Given the description of an element on the screen output the (x, y) to click on. 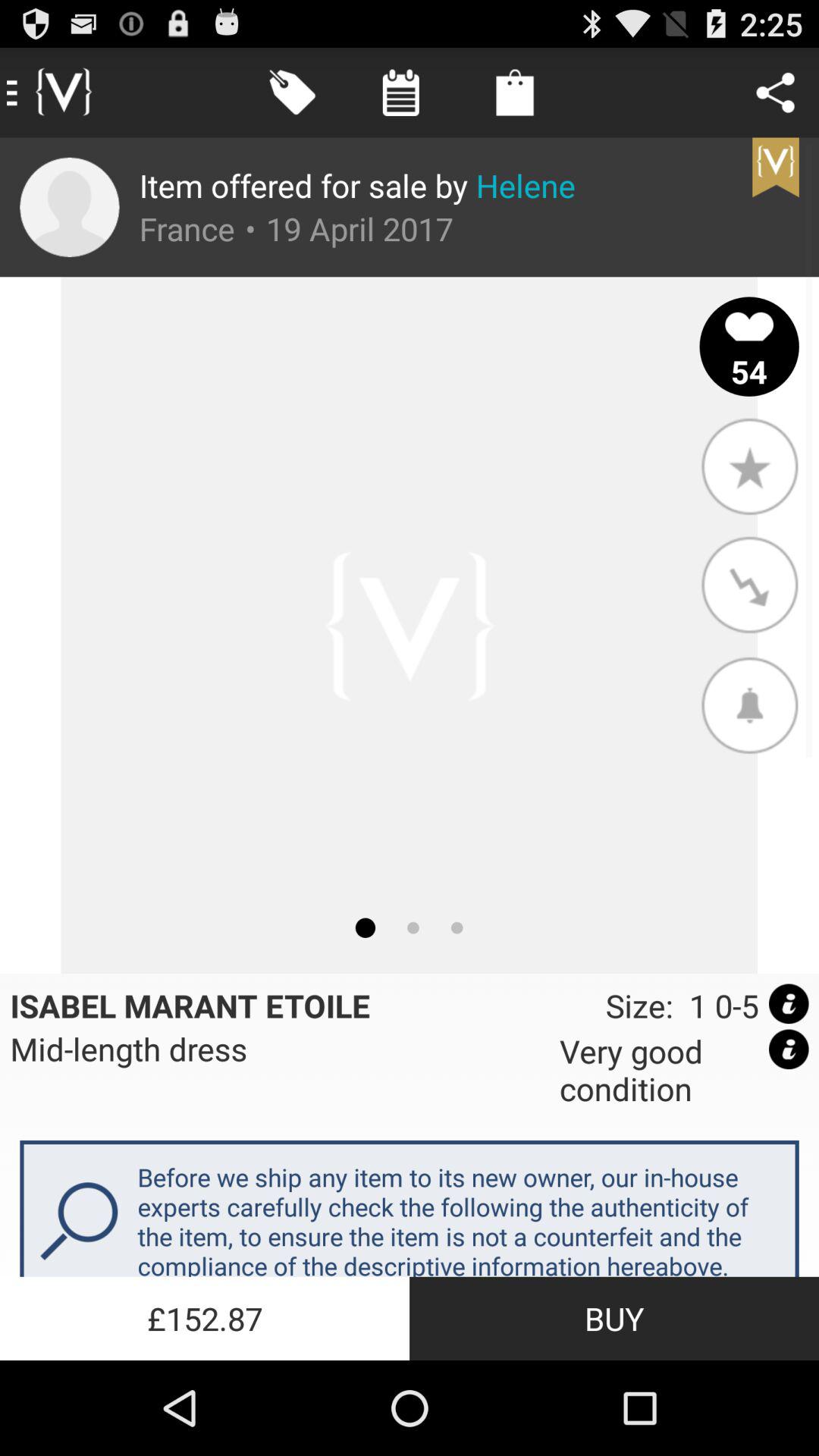
press buy icon (614, 1318)
